Given the description of an element on the screen output the (x, y) to click on. 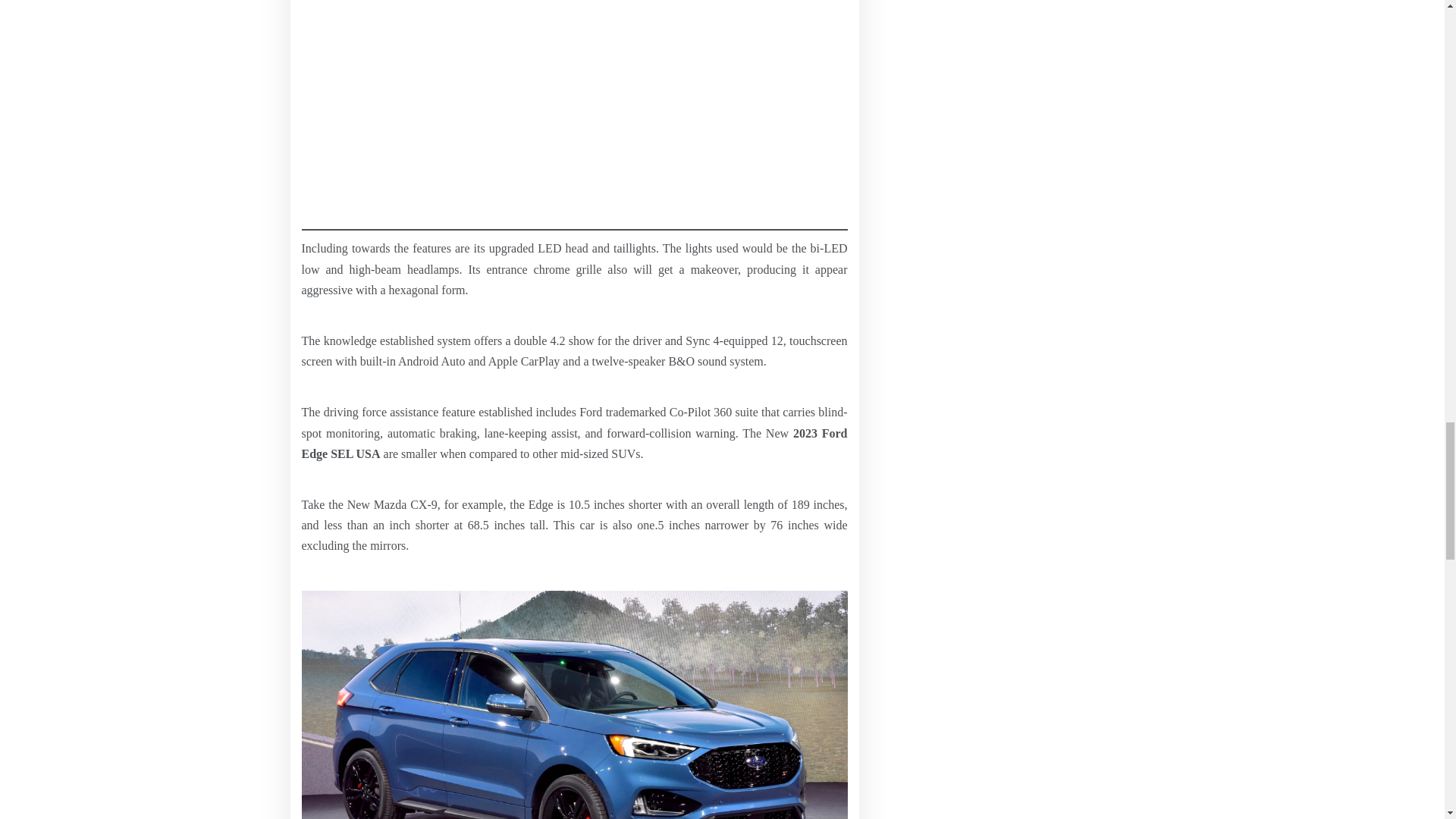
10 (574, 704)
Advertisement (574, 124)
